Given the description of an element on the screen output the (x, y) to click on. 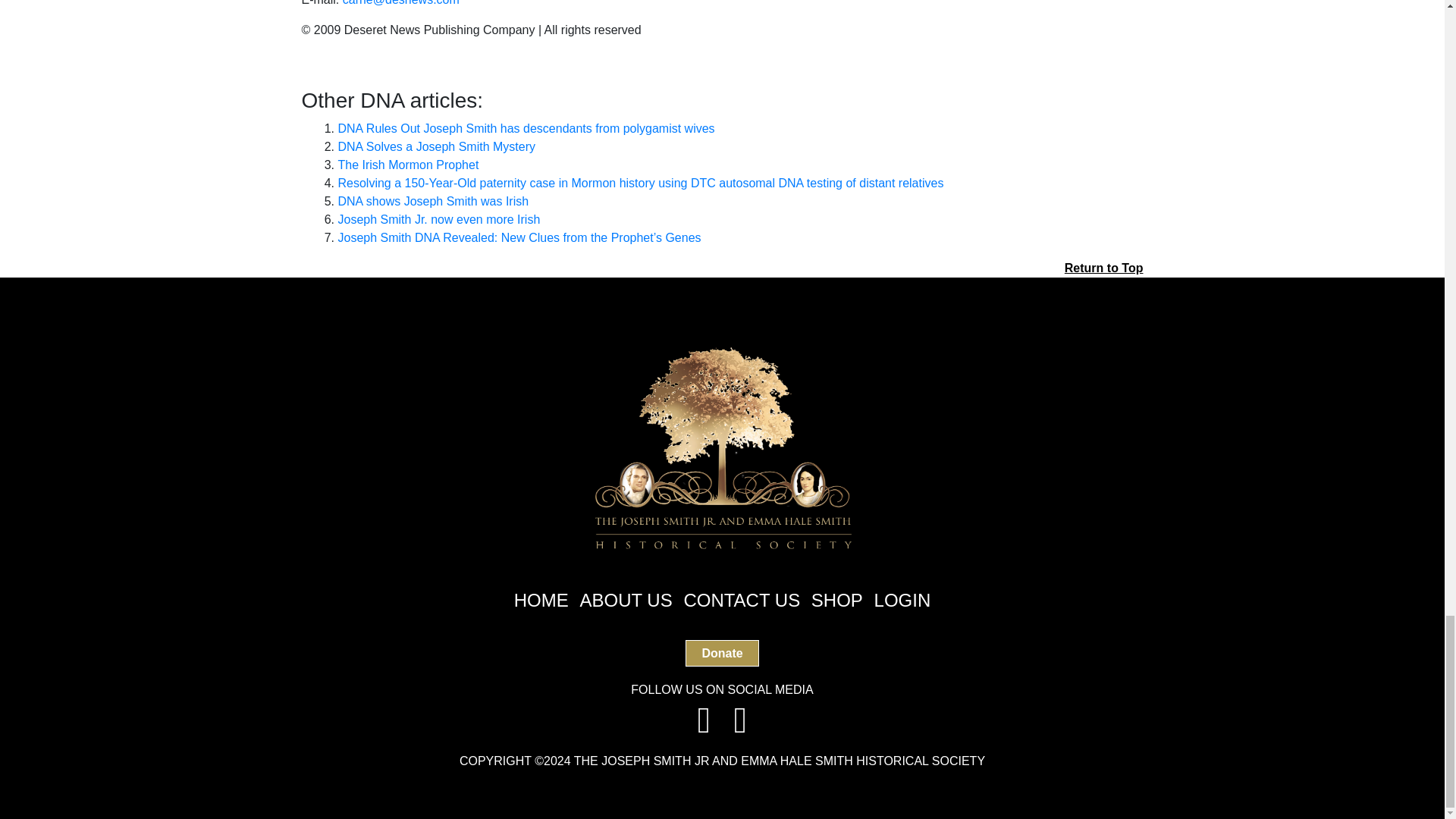
Return to Top (1103, 268)
